Given the description of an element on the screen output the (x, y) to click on. 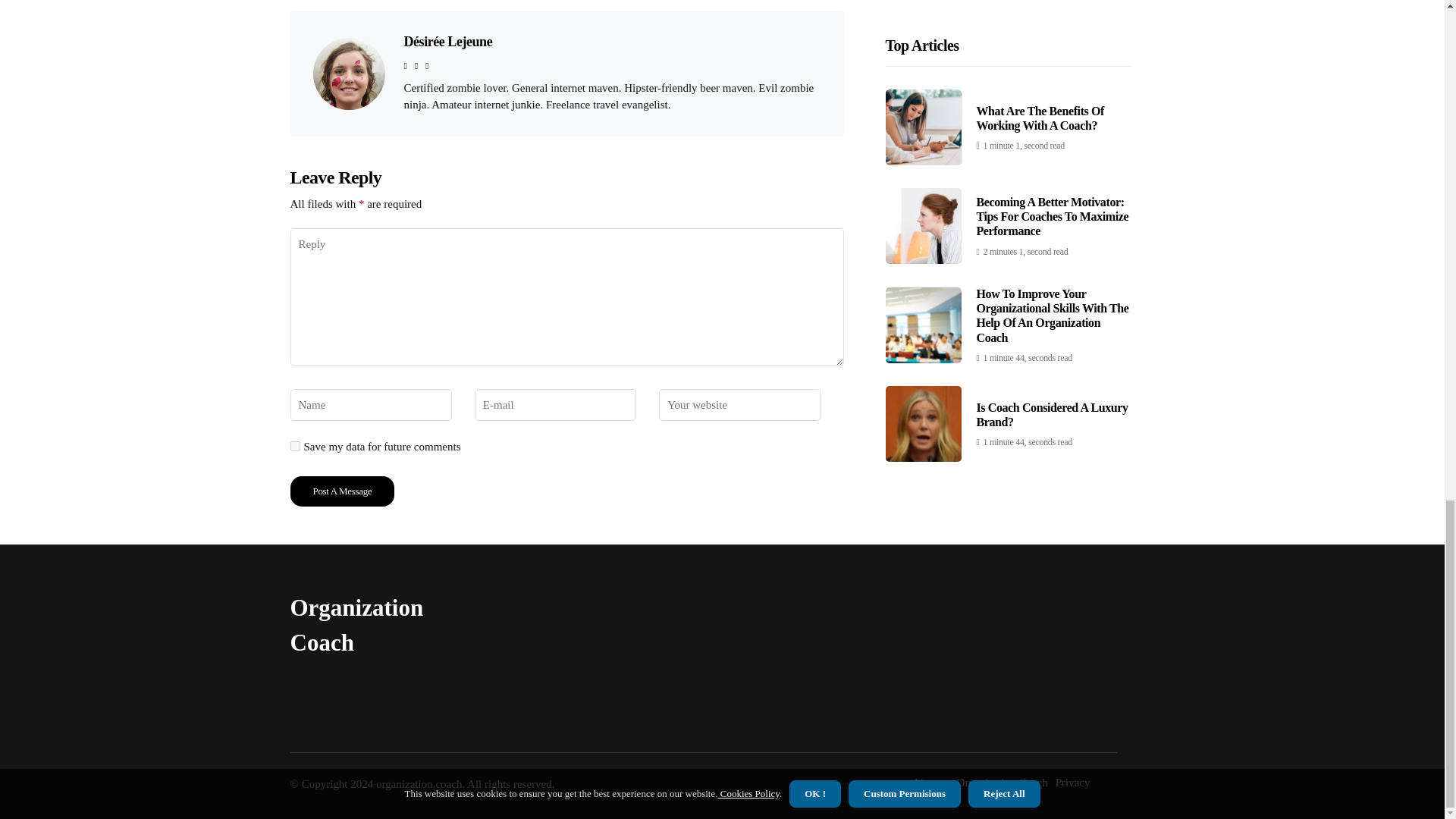
yes (294, 446)
Post a Message (341, 490)
Post a Message (341, 490)
